Given the description of an element on the screen output the (x, y) to click on. 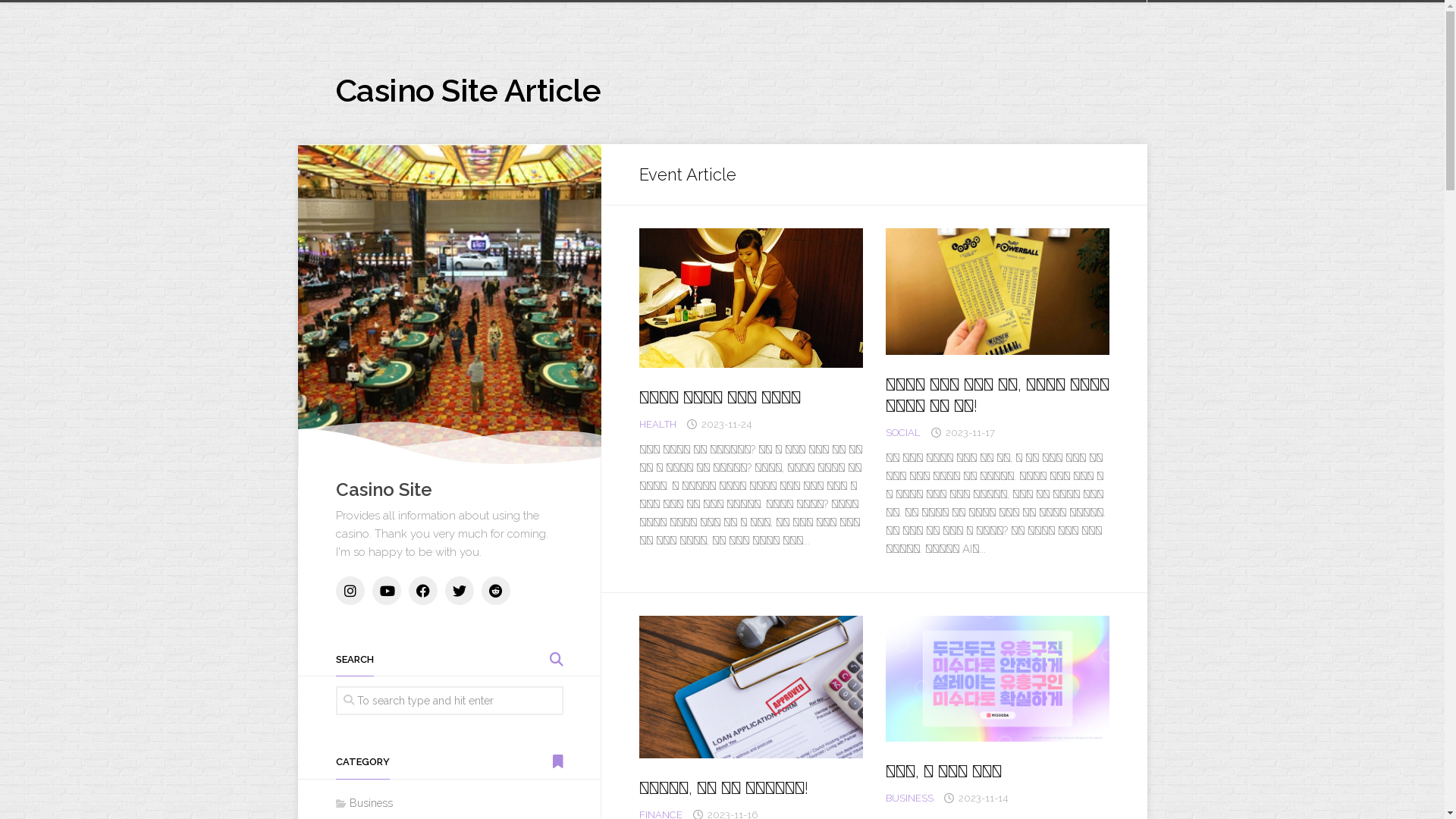
youtube Element type: hover (385, 590)
Casino Site Article Element type: text (467, 90)
BUSINESS Element type: text (909, 797)
SOCIAL Element type: text (902, 432)
facebook Element type: hover (421, 590)
twitter Element type: hover (458, 590)
instagram Element type: hover (349, 590)
Business Element type: text (363, 803)
reddit Element type: hover (494, 590)
HEALTH Element type: text (656, 423)
